Given the description of an element on the screen output the (x, y) to click on. 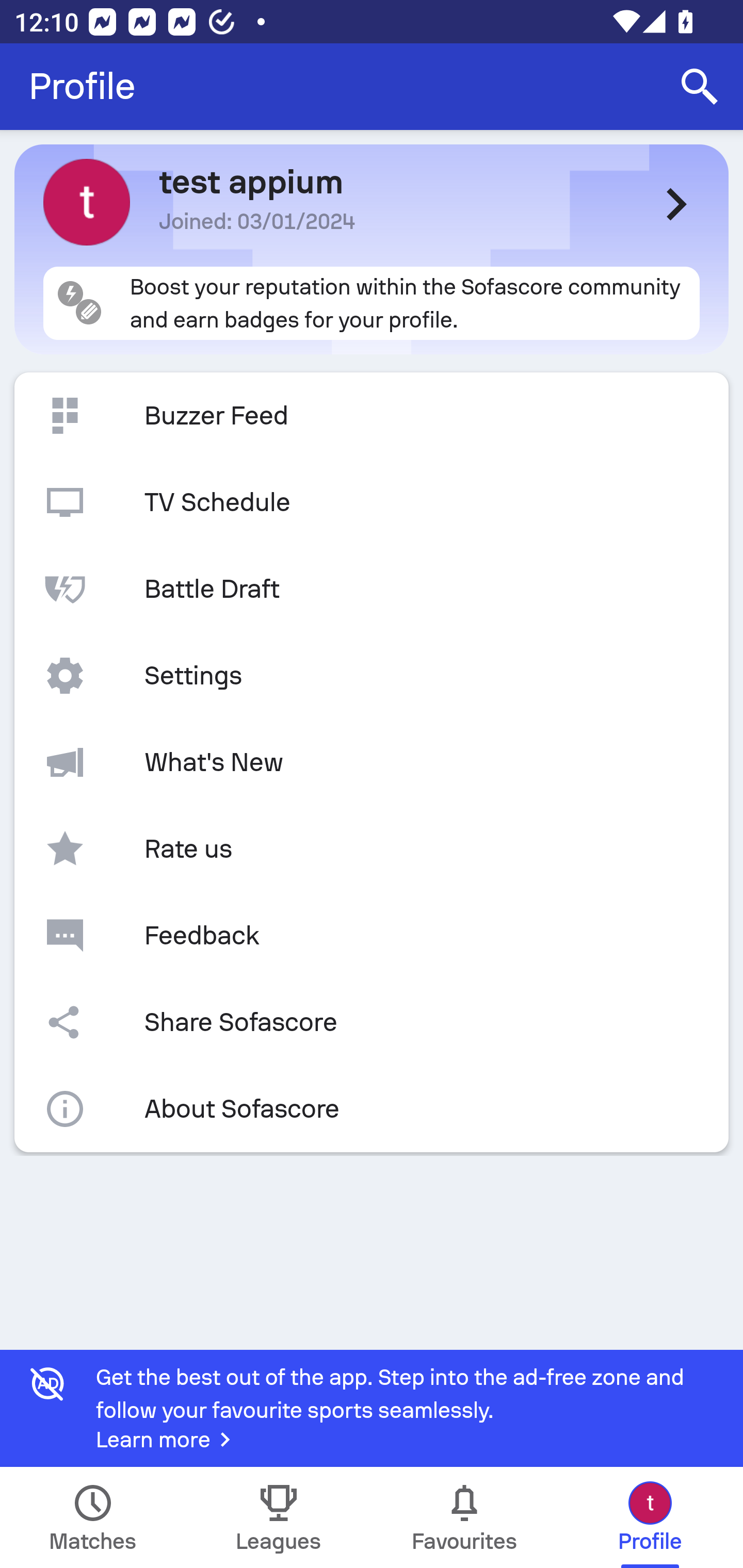
Profile (81, 86)
Search (699, 86)
Buzzer Feed (371, 416)
TV Schedule (371, 502)
Battle Draft (371, 588)
Settings (371, 675)
What's New (371, 762)
Rate us (371, 848)
Feedback (371, 935)
Share Sofascore (371, 1022)
About Sofascore (371, 1109)
Matches (92, 1517)
Leagues (278, 1517)
Favourites (464, 1517)
